Given the description of an element on the screen output the (x, y) to click on. 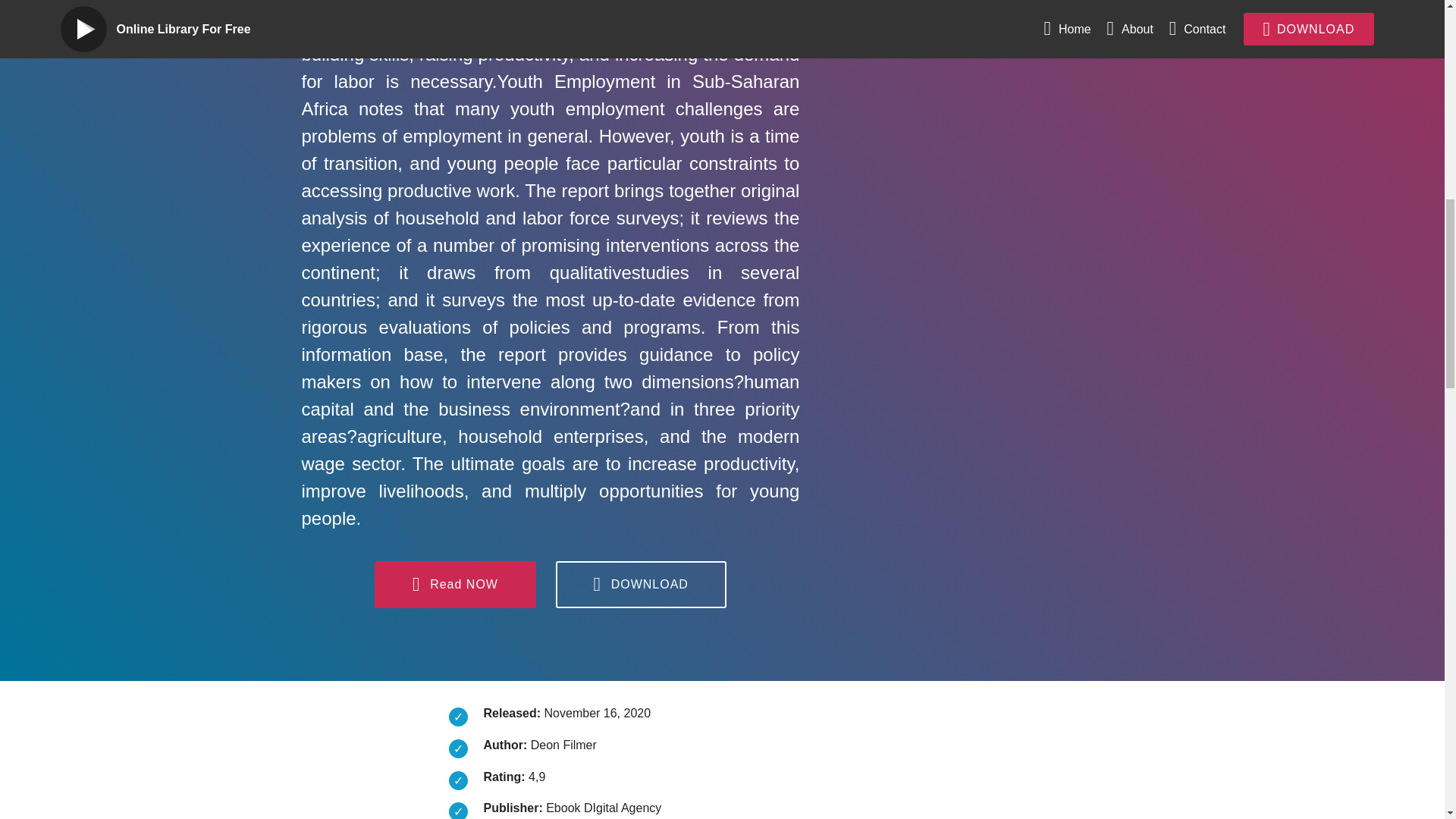
DOWNLOAD (641, 584)
Read NOW (454, 584)
